Given the description of an element on the screen output the (x, y) to click on. 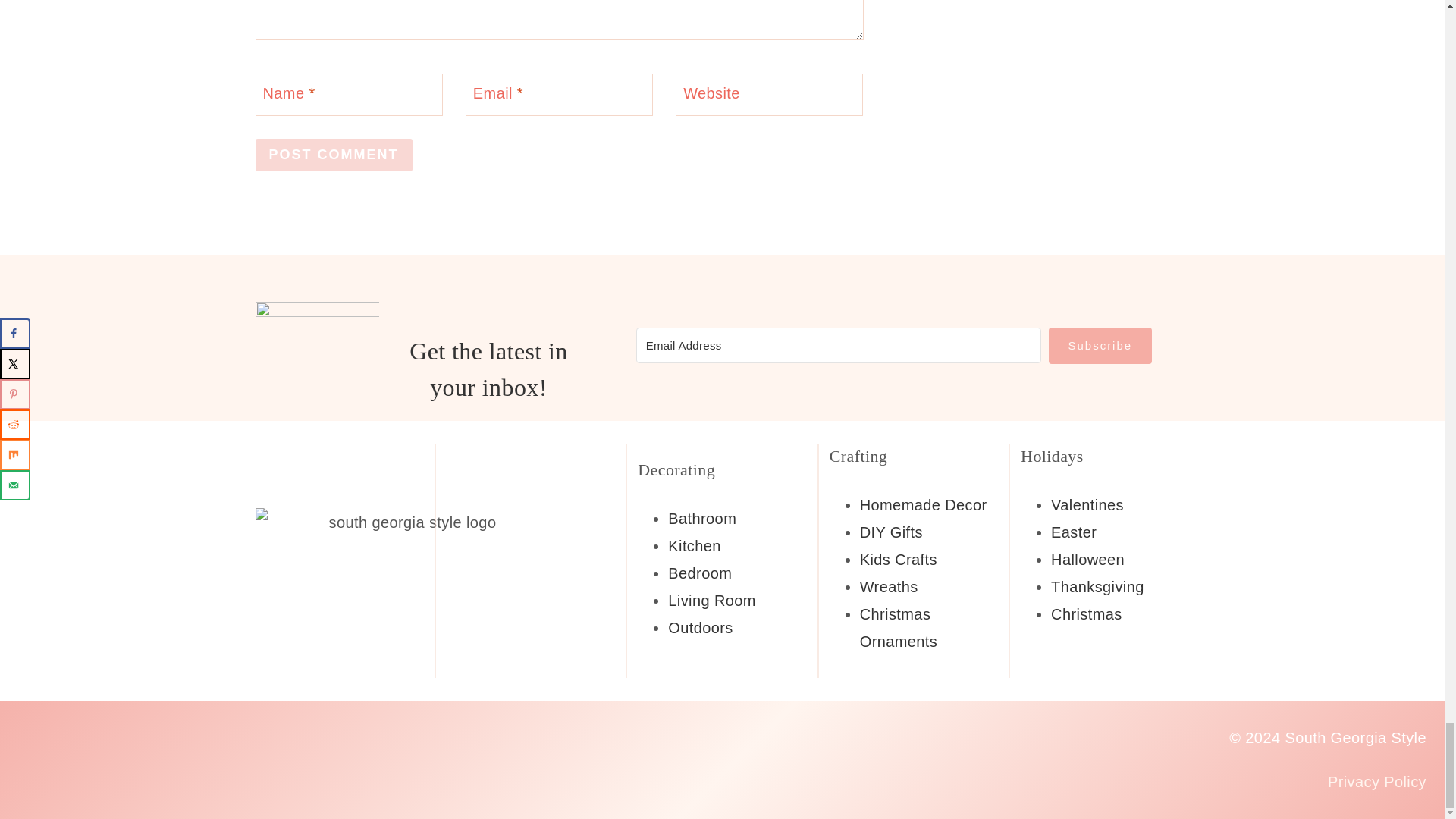
Post Comment (333, 154)
